Given the description of an element on the screen output the (x, y) to click on. 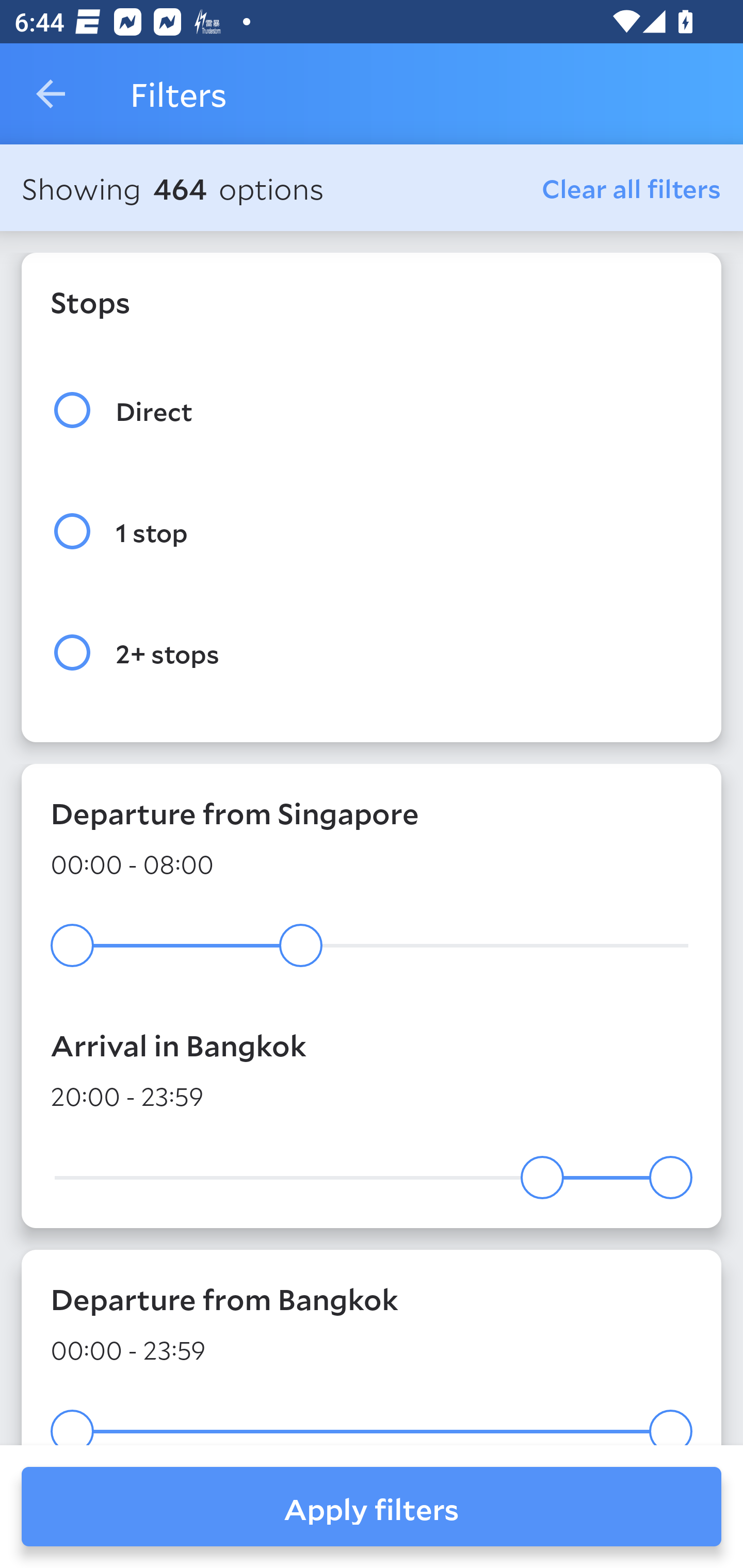
Navigate up (50, 93)
Clear all filters (631, 187)
Direct (371, 409)
1 stop (371, 531)
2+ stops (371, 652)
Apply filters (371, 1506)
